Given the description of an element on the screen output the (x, y) to click on. 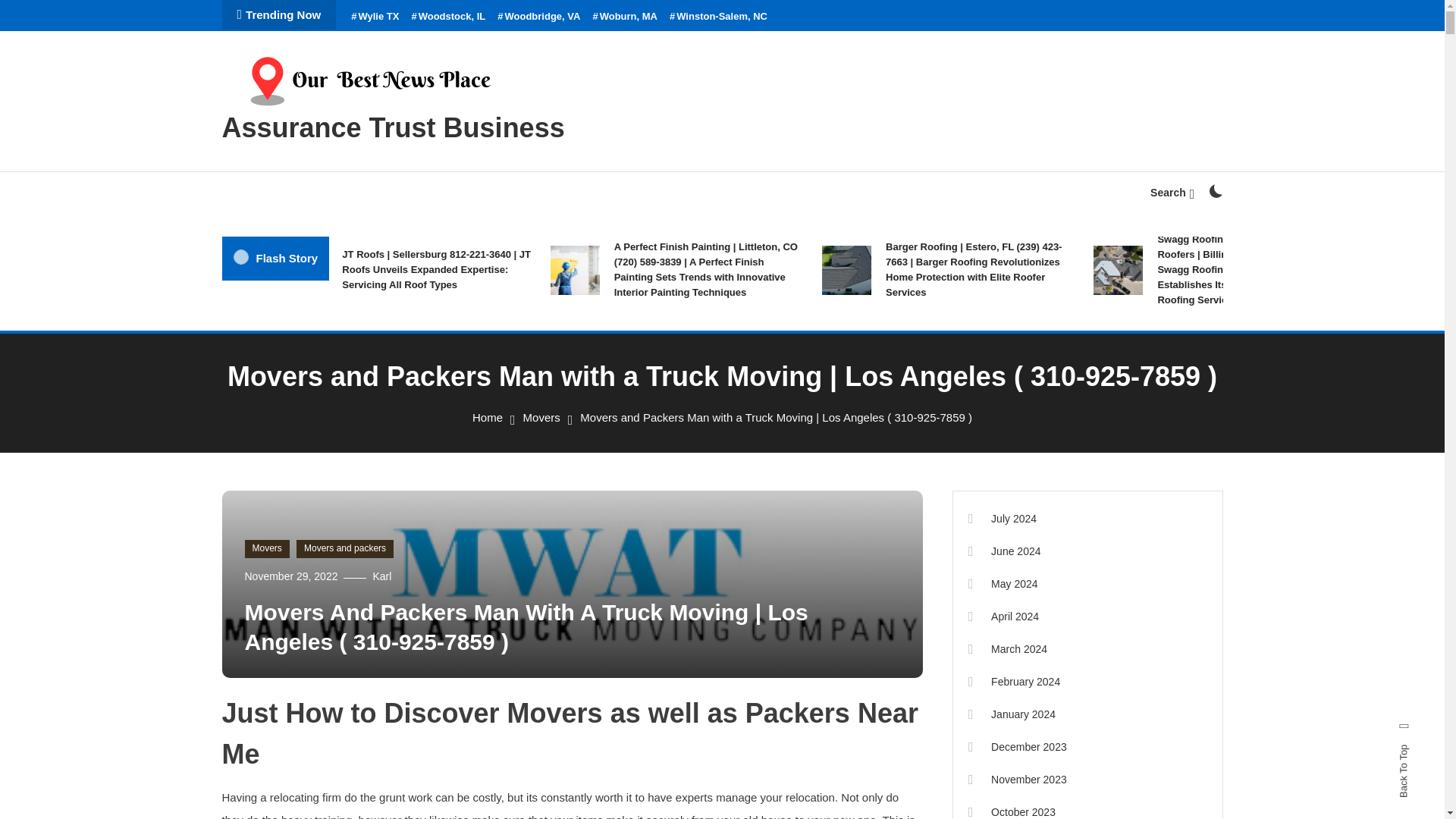
Home (486, 417)
Movers and packers (345, 548)
Search (1171, 192)
Search (768, 434)
Winston-Salem, NC (718, 16)
Karl (381, 576)
Wylie TX (374, 16)
Woodstock, IL (447, 16)
Woburn, MA (625, 16)
Movers (541, 417)
Woodbridge, VA (538, 16)
November 29, 2022 (290, 576)
on (1215, 191)
Assurance Trust Business (392, 127)
Movers (266, 548)
